Given the description of an element on the screen output the (x, y) to click on. 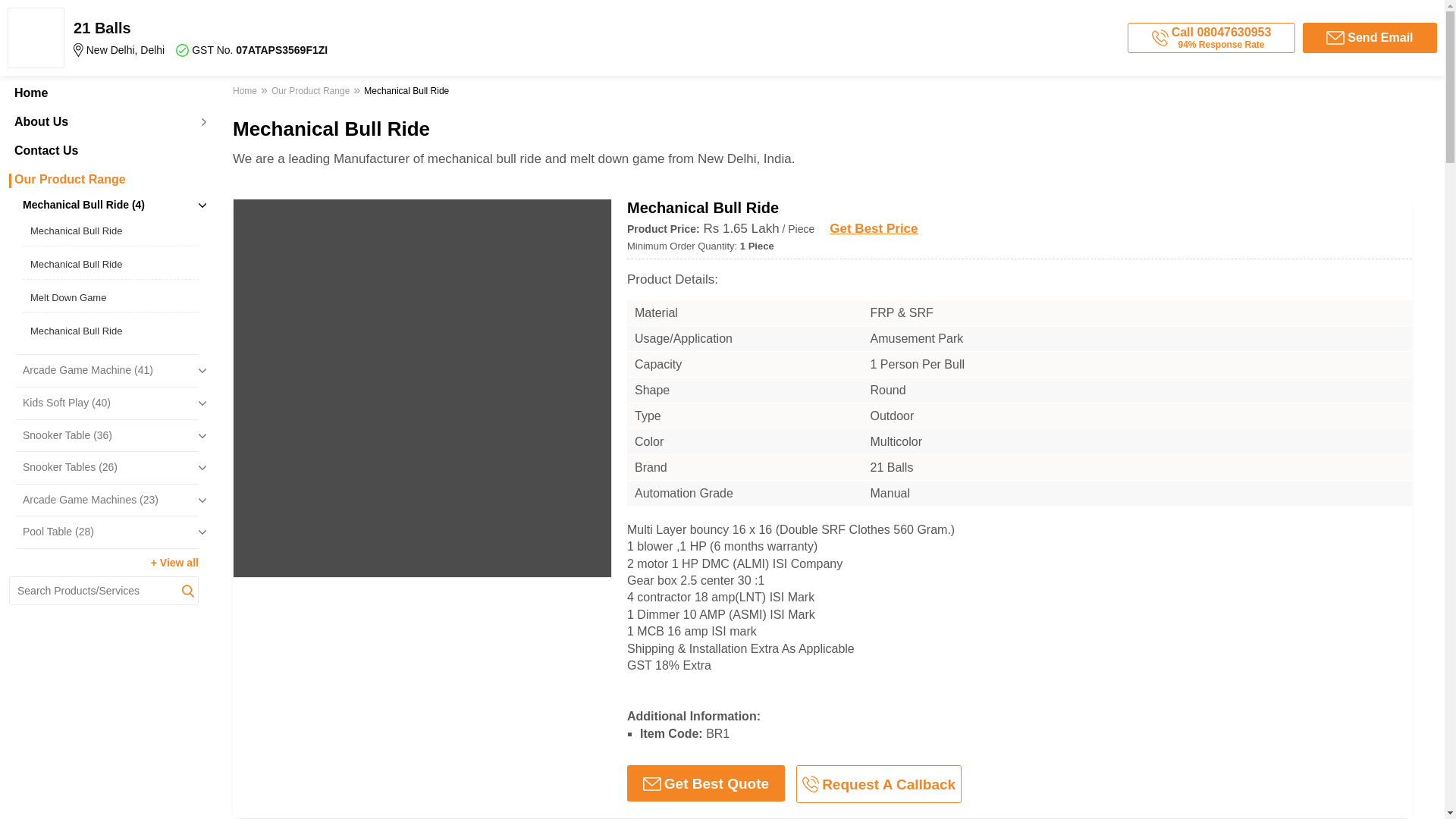
Call 08047630953
94% Response Rate Element type: text (1211, 37)
Mechanical Bull Ride Element type: text (110, 264)
Contact Us Element type: text (103, 150)
Mechanical Bull Ride Element type: text (110, 331)
Pool Table (28) Element type: text (110, 531)
Get Best Quote Element type: text (705, 783)
Our Product Range Element type: text (310, 92)
Arcade Game Machines (23) Element type: text (110, 500)
About Us Element type: text (103, 122)
Home Element type: text (103, 93)
Our Product Range Element type: text (103, 179)
Mechanical Bull Ride (4) Element type: text (110, 205)
Request A Callback Element type: text (878, 784)
Snooker Tables (26) Element type: text (110, 467)
+ View all Element type: text (174, 562)
Send Email Element type: text (1369, 37)
Get Best Price Element type: text (873, 228)
Arcade Game Machine (41) Element type: text (110, 370)
21 Balls
New Delhi, Delhi
GST No. 07ATAPS3569F1ZI Element type: text (285, 37)
0 Element type: text (292, 290)
Snooker Table (36) Element type: text (110, 435)
Home Element type: text (246, 92)
Mechanical Bull Ride Element type: text (110, 231)
Kids Soft Play (40) Element type: text (110, 403)
Melt Down Game Element type: text (110, 297)
